Given the description of an element on the screen output the (x, y) to click on. 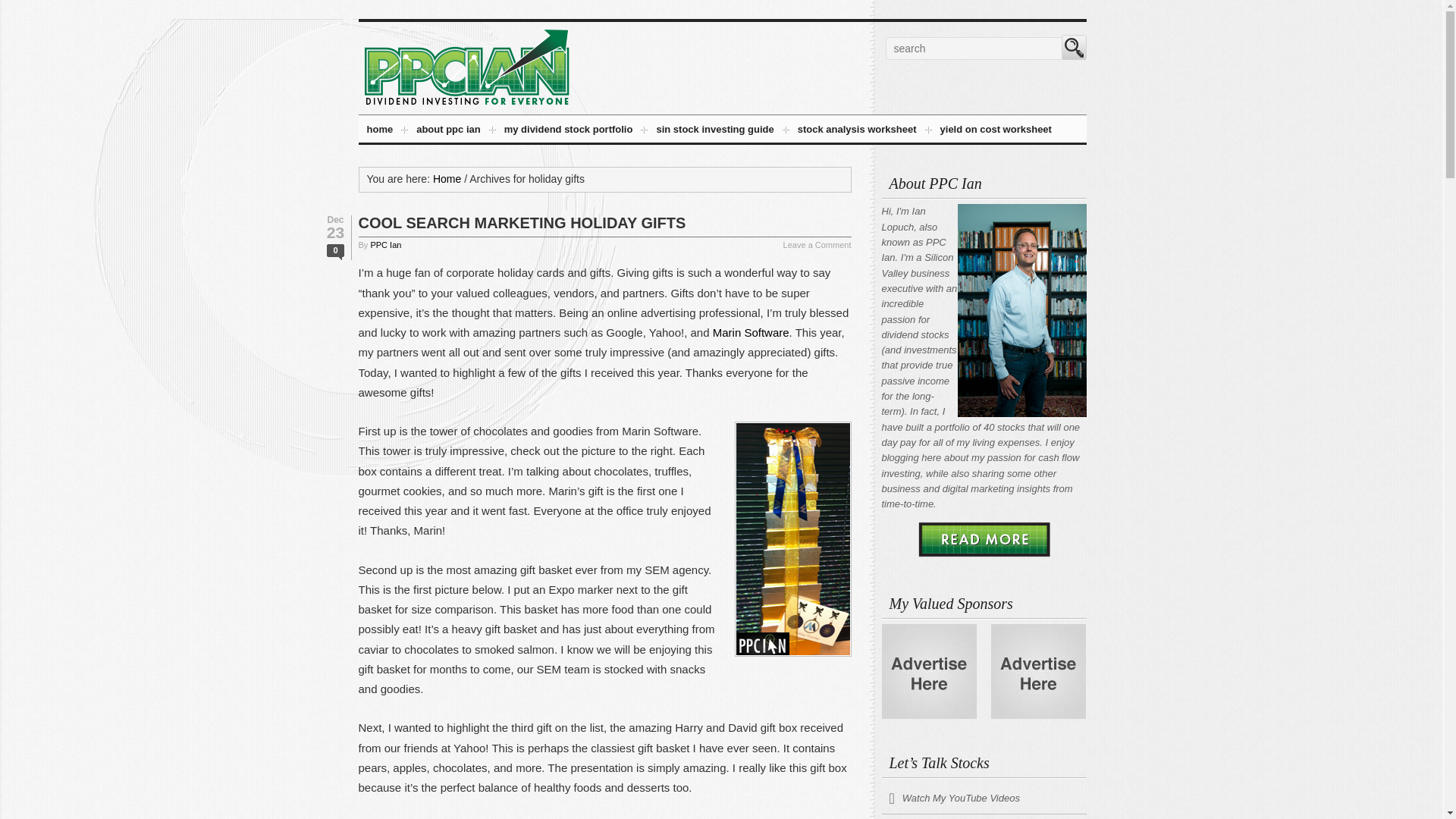
Search (1073, 47)
sin stock investing guide (714, 131)
Home (446, 178)
PPC Ian (465, 66)
my dividend stock portfolio (568, 131)
about ppc ian (448, 131)
COOL SEARCH MARKETING HOLIDAY GIFTS (521, 222)
yield on cost worksheet (995, 131)
0 (334, 252)
Leave a Comment (817, 245)
stock analysis worksheet (857, 131)
PPC Ian (385, 244)
Marin Software (751, 332)
PPC Ian (465, 104)
Search (1073, 47)
